Given the description of an element on the screen output the (x, y) to click on. 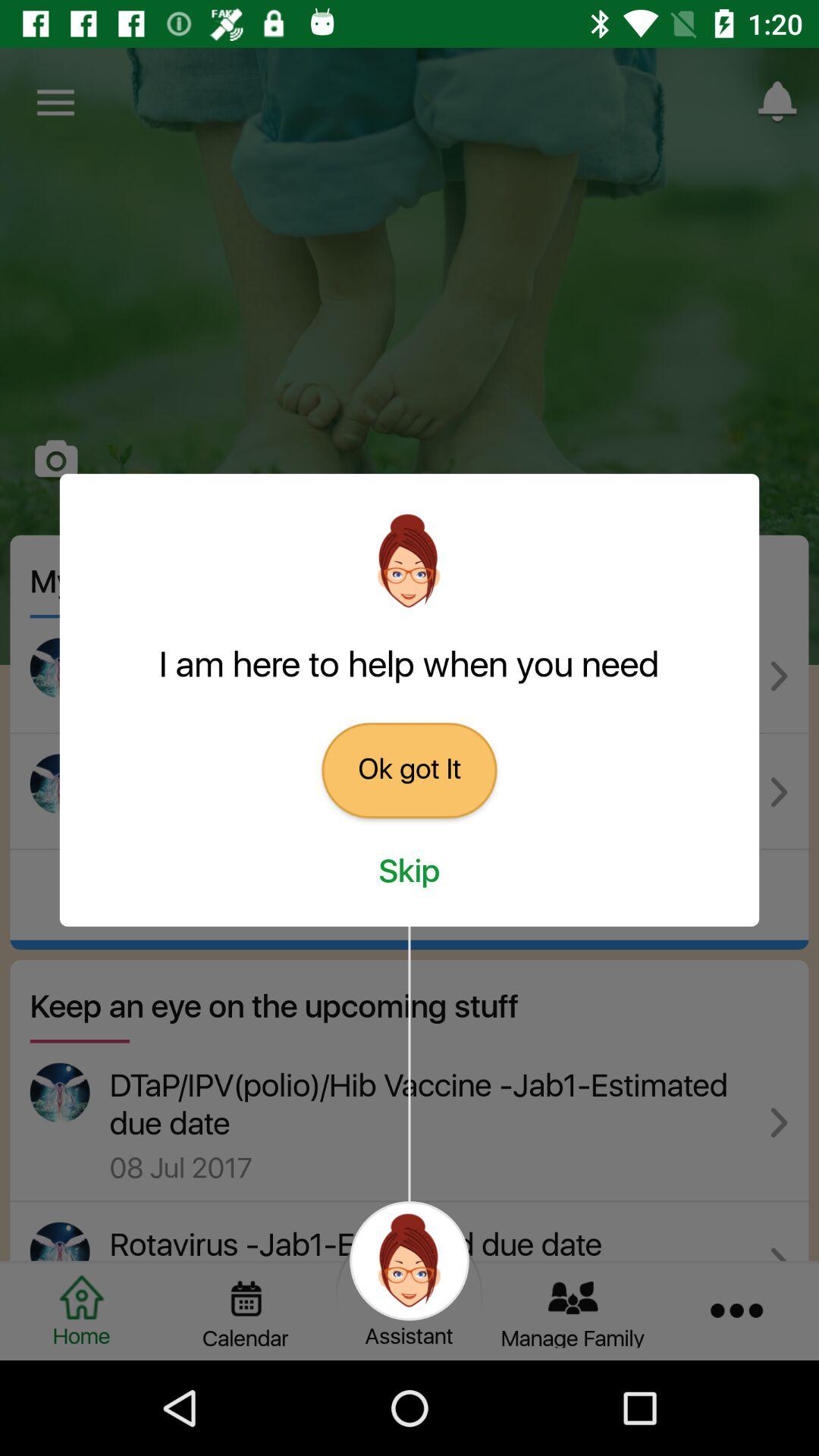
turn off item above the skip item (409, 770)
